Given the description of an element on the screen output the (x, y) to click on. 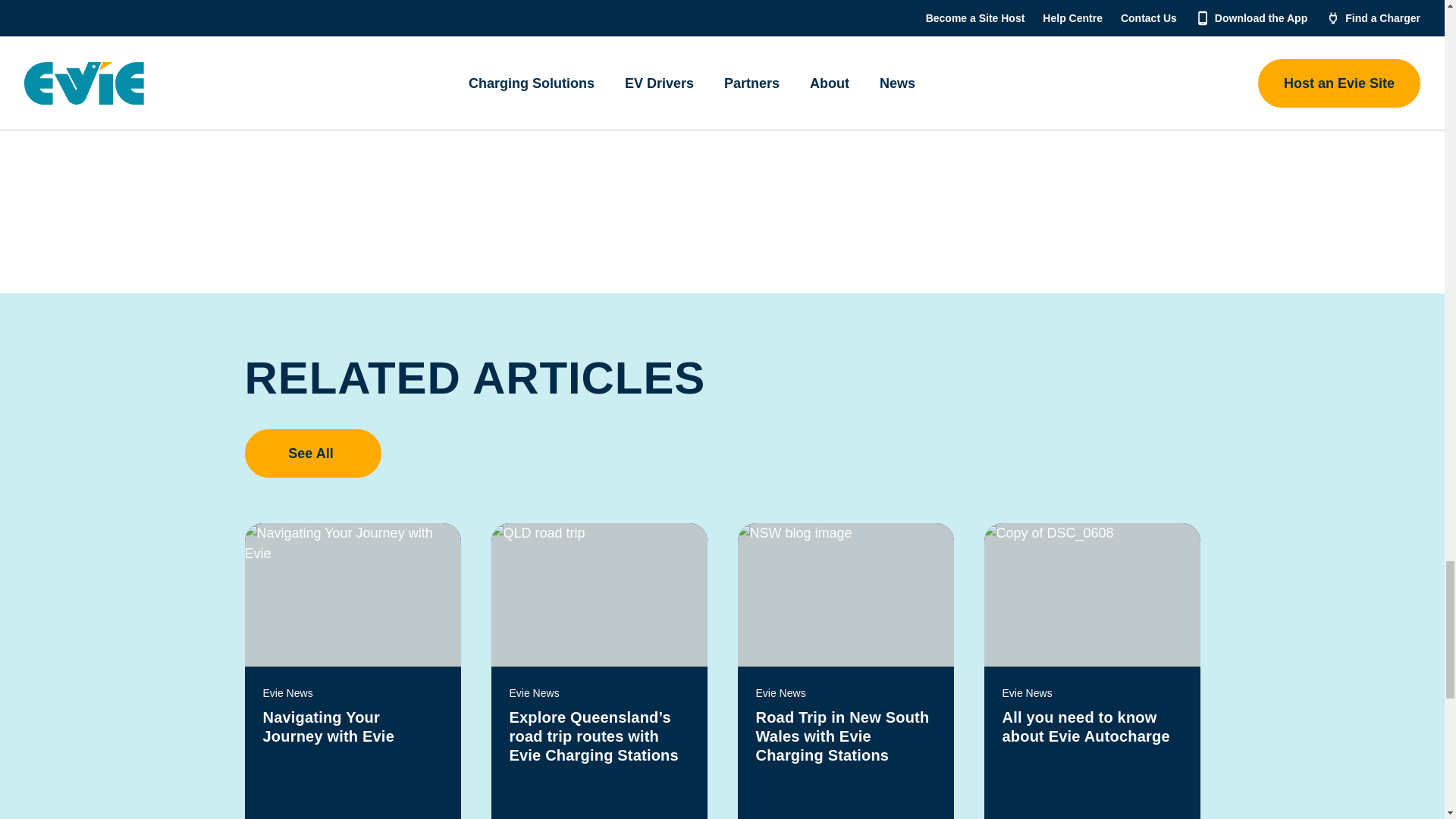
QLD road trip (599, 595)
NSW blog image (844, 595)
Navigating Your Journey with Evie (352, 595)
